Given the description of an element on the screen output the (x, y) to click on. 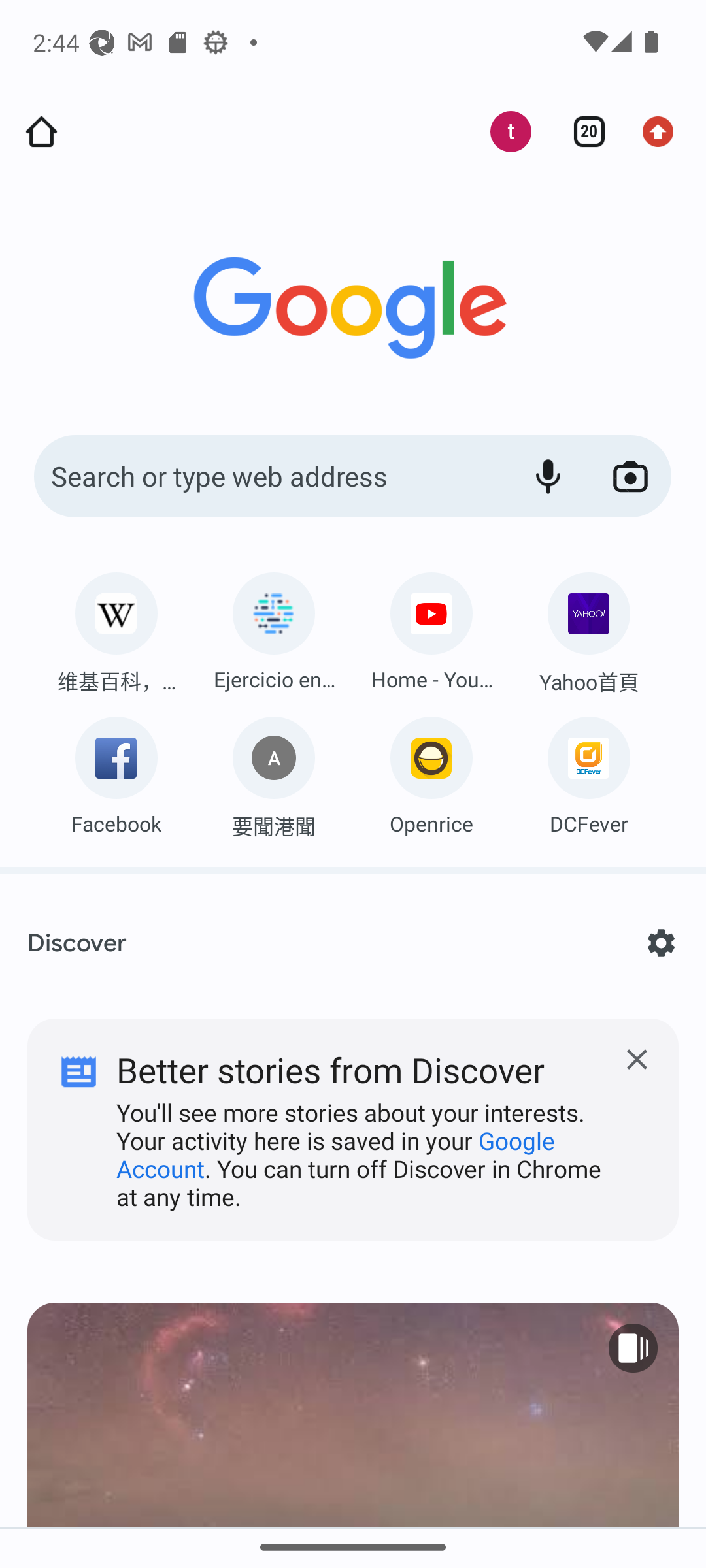
Home (41, 131)
Manage account (499, 131)
Switch or close tabs (582, 131)
Update available. More options (664, 131)
Search or type web address (267, 476)
Start voice search (547, 476)
Search with your camera using Google Lens (629, 476)
维基百科，自由的百科全书 (116, 627)
Ejercicio en lugares diferentes - Ada (273, 627)
Home - YouTube (430, 627)
Yahoo首頁 (588, 628)
Facebook (116, 771)
要聞港聞 (273, 771)
Openrice (430, 771)
DCFever (588, 771)
Options for Discover (660, 942)
Dismiss (353, 1115)
Dismiss (636, 1059)
